Given the description of an element on the screen output the (x, y) to click on. 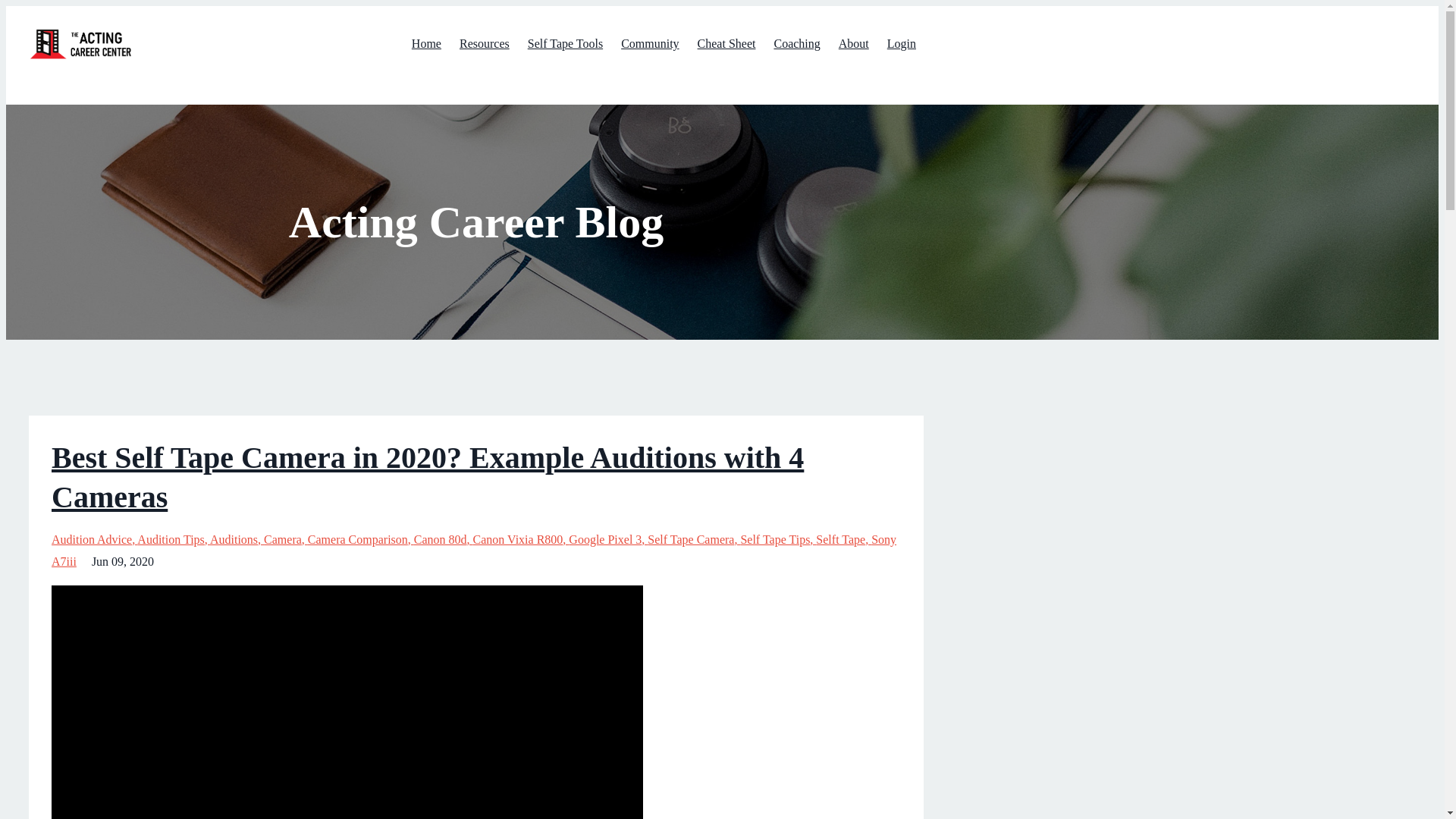
Canon Vixia R800 (521, 539)
Camera Comparison (360, 539)
Google Pixel 3 (608, 539)
About (853, 43)
Sony A7iii (473, 550)
Community (649, 43)
Home (426, 43)
Auditions (236, 539)
Audition Advice (93, 539)
Self Tape Tips (777, 539)
Login (900, 43)
Self Tape Tools (564, 43)
Coaching (796, 43)
Self Tape Camera (693, 539)
